Given the description of an element on the screen output the (x, y) to click on. 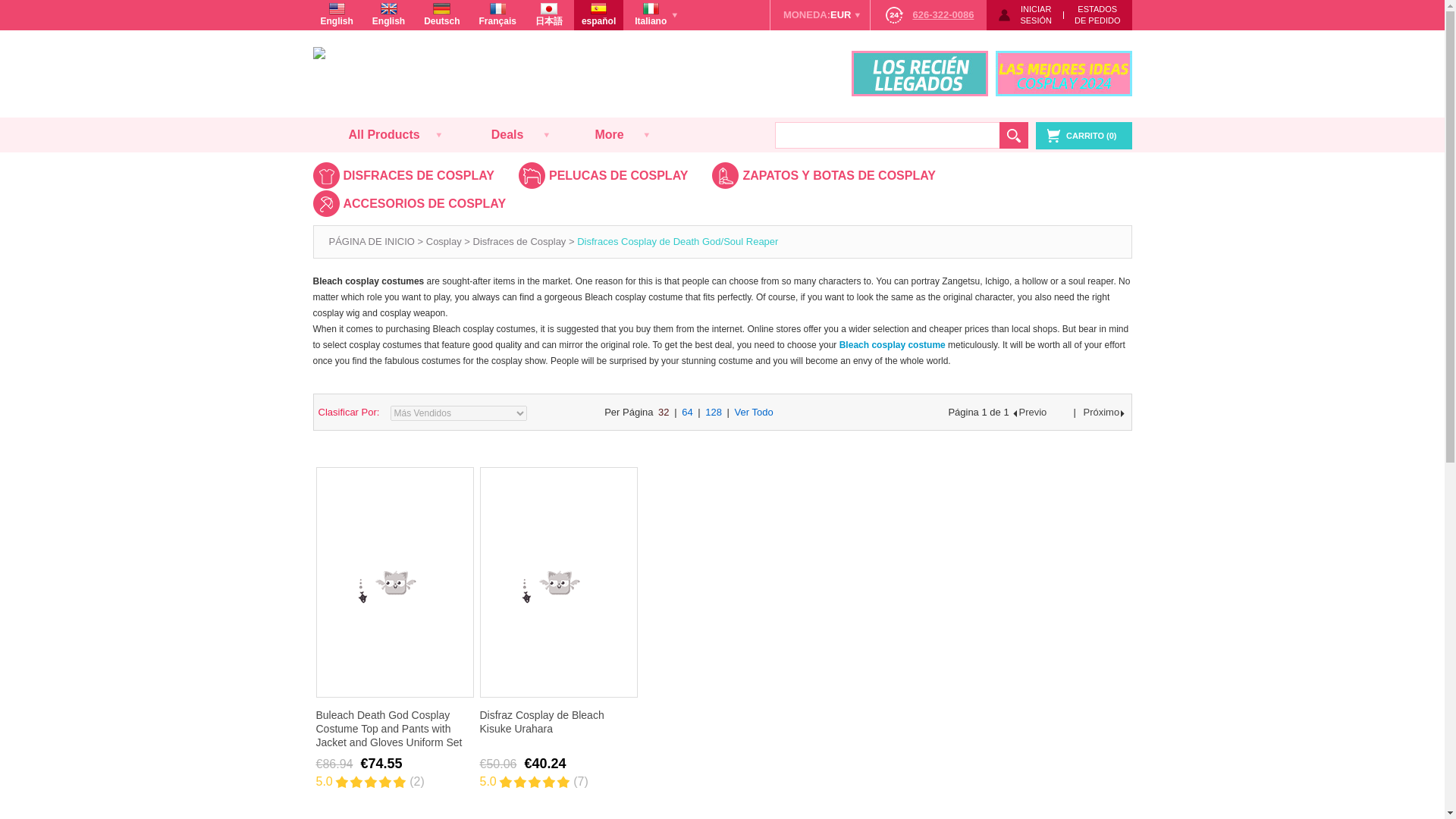
English (336, 15)
Deutsch (441, 15)
Modo de Lista (906, 412)
626-322-0086 (1097, 15)
English (928, 15)
MONEDA:EUR (388, 15)
Italiano (820, 15)
